Given the description of an element on the screen output the (x, y) to click on. 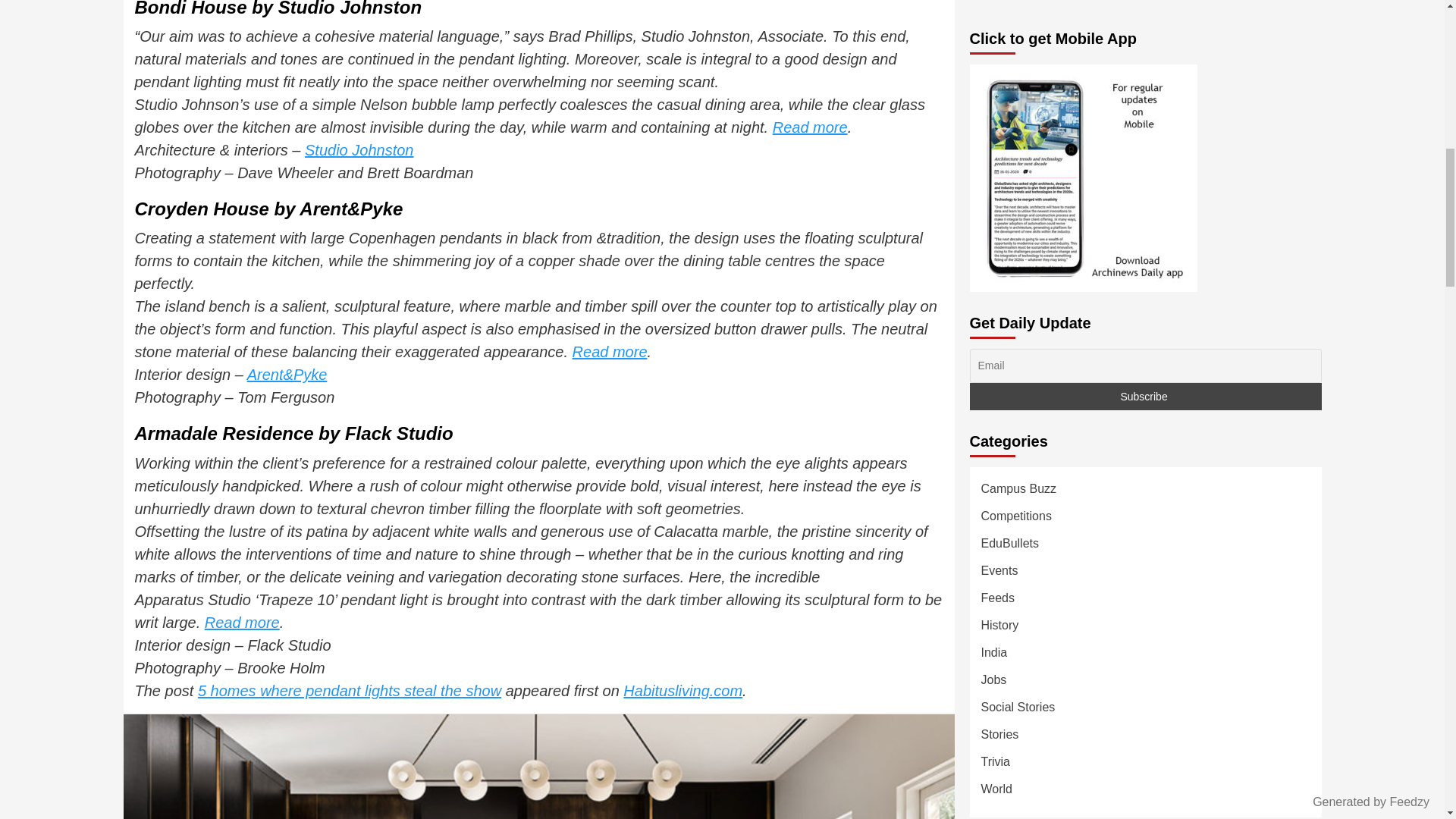
Habitusliving.com (682, 690)
Studio Johnston (358, 149)
Read more (810, 126)
5 homes where pendant lights steal the show (349, 690)
Read more (609, 351)
Read more (242, 622)
